Given the description of an element on the screen output the (x, y) to click on. 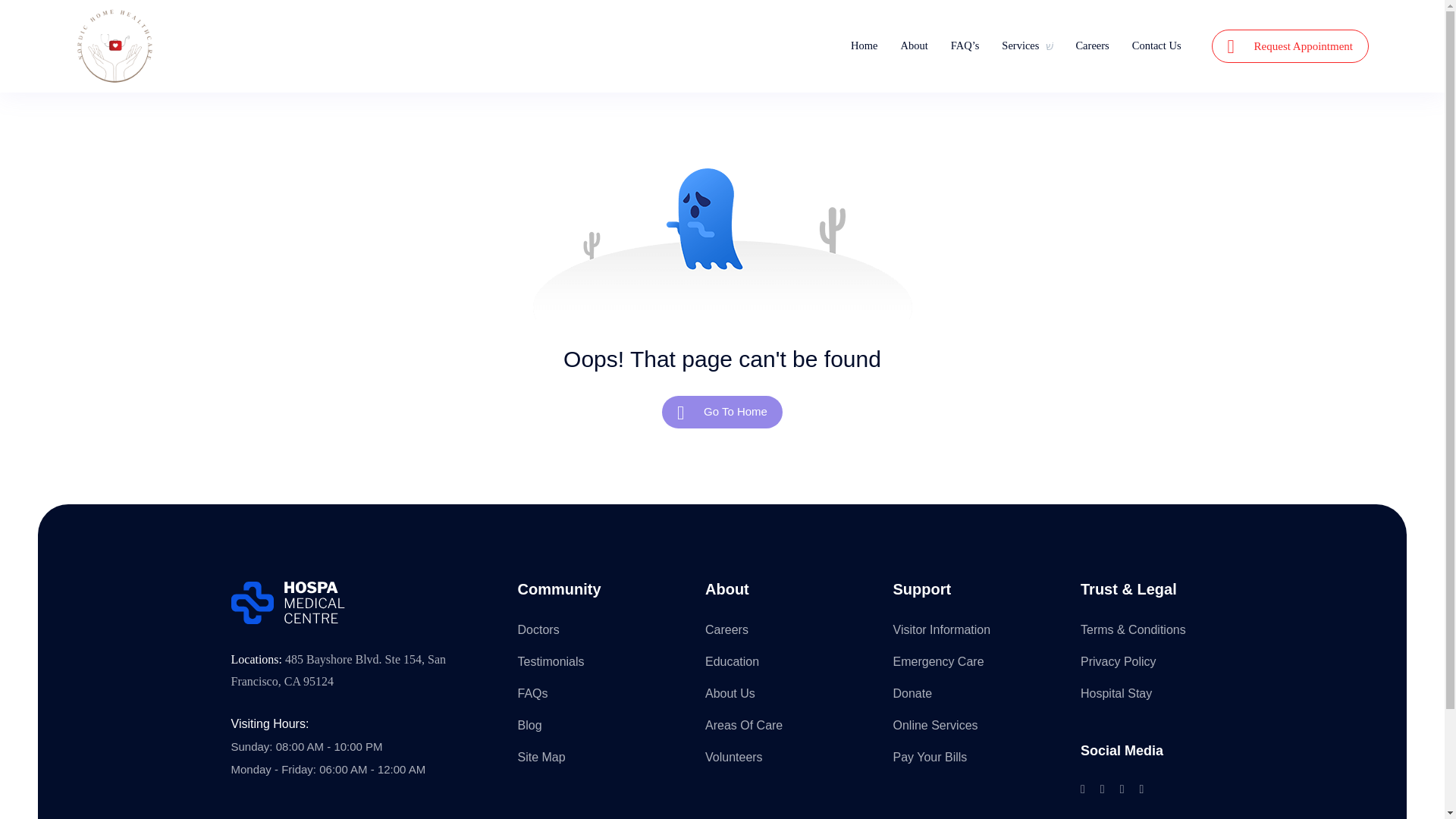
Go To Home (722, 411)
Testimonials (549, 661)
Doctors (537, 629)
Request Appointment (1289, 46)
